Given the description of an element on the screen output the (x, y) to click on. 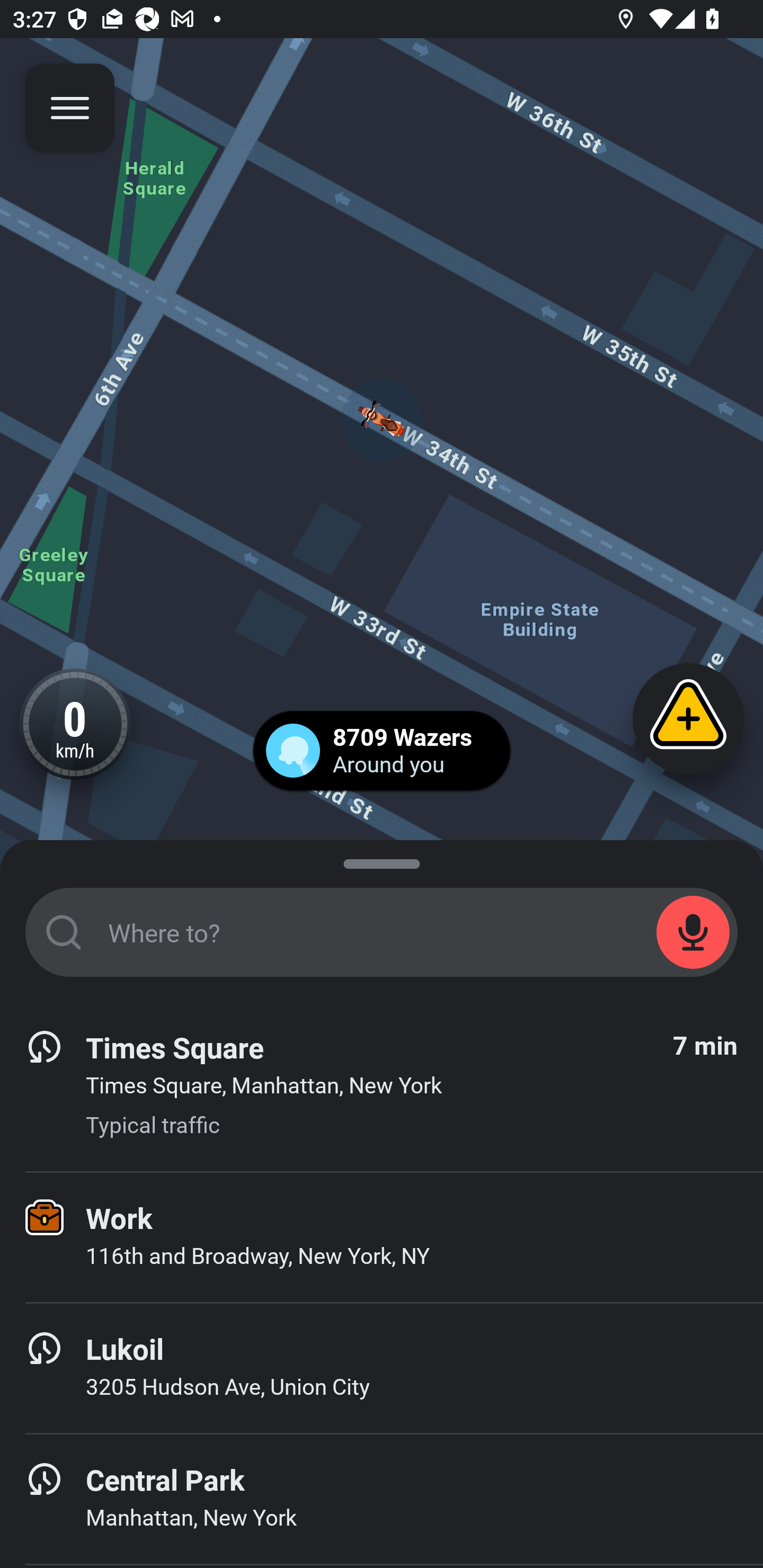
SUGGESTIONS_SHEET_DRAG_HANDLE (381, 860)
START_STATE_SEARCH_FIELD Where to? (381, 931)
Work 116th and Broadway, New York, NY (381, 1236)
Lukoil 3205 Hudson Ave, Union City (381, 1368)
Central Park Manhattan, New York (381, 1498)
